Given the description of an element on the screen output the (x, y) to click on. 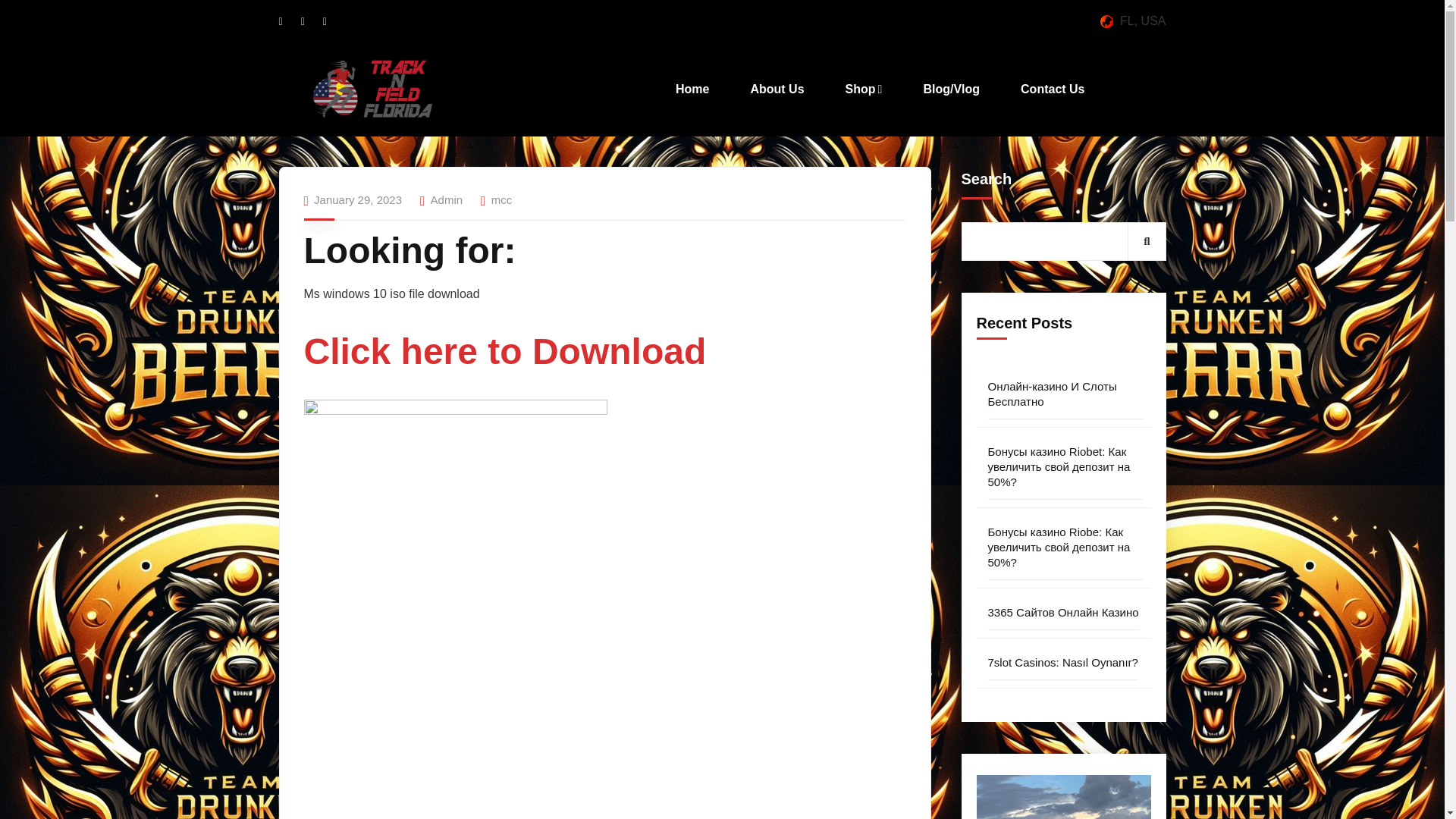
mcc (502, 198)
Contact Us (1051, 89)
Click here to Download (504, 359)
Posts by admin (446, 199)
Search (1146, 240)
Track Lives Matter (371, 88)
About Us (776, 89)
Admin (446, 199)
